Given the description of an element on the screen output the (x, y) to click on. 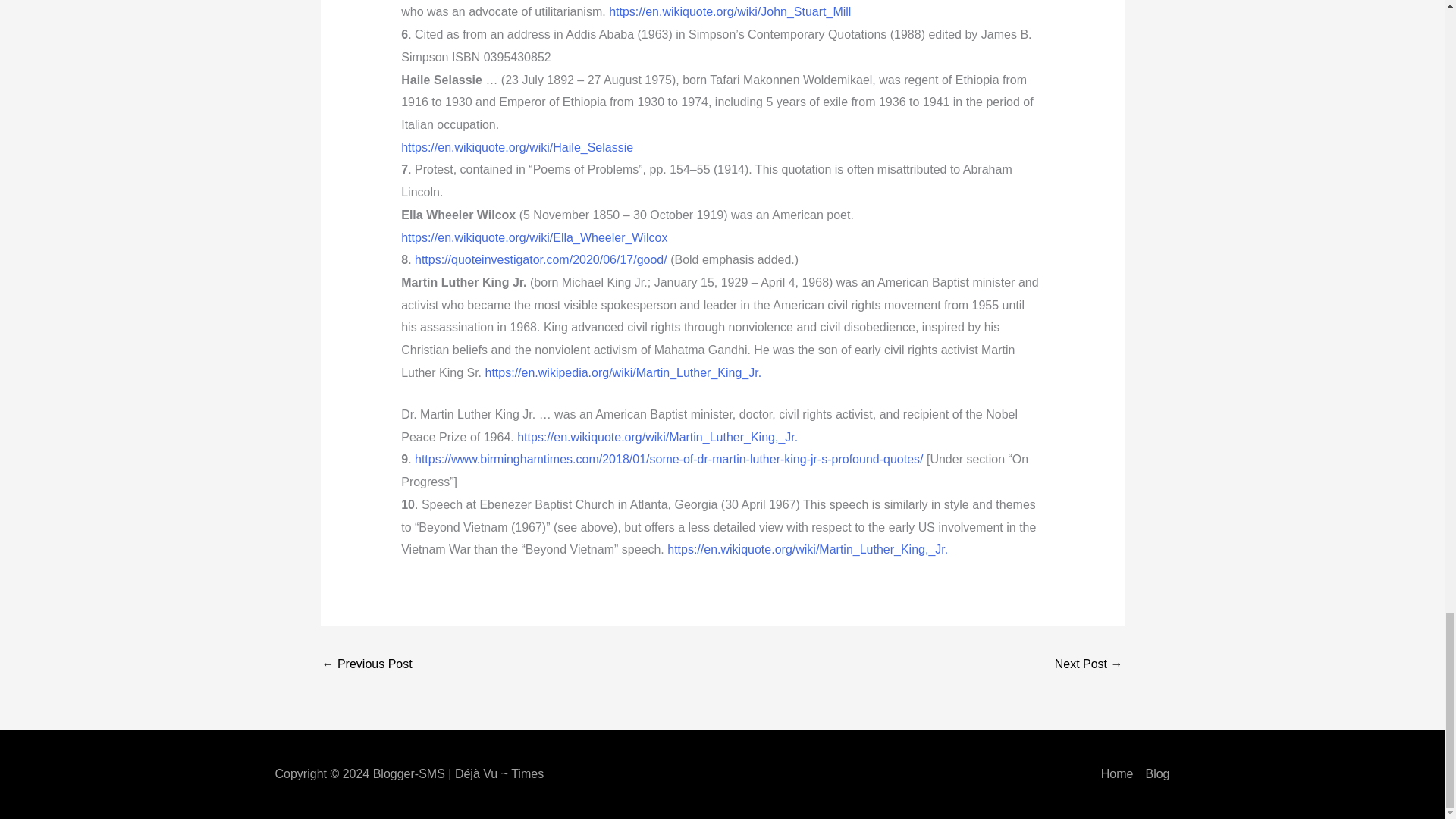
PSRS: How to Bury Truth (1088, 665)
Home (1117, 773)
Blog (1156, 773)
Death of Science. Tyranny of Pscience. (366, 665)
